Given the description of an element on the screen output the (x, y) to click on. 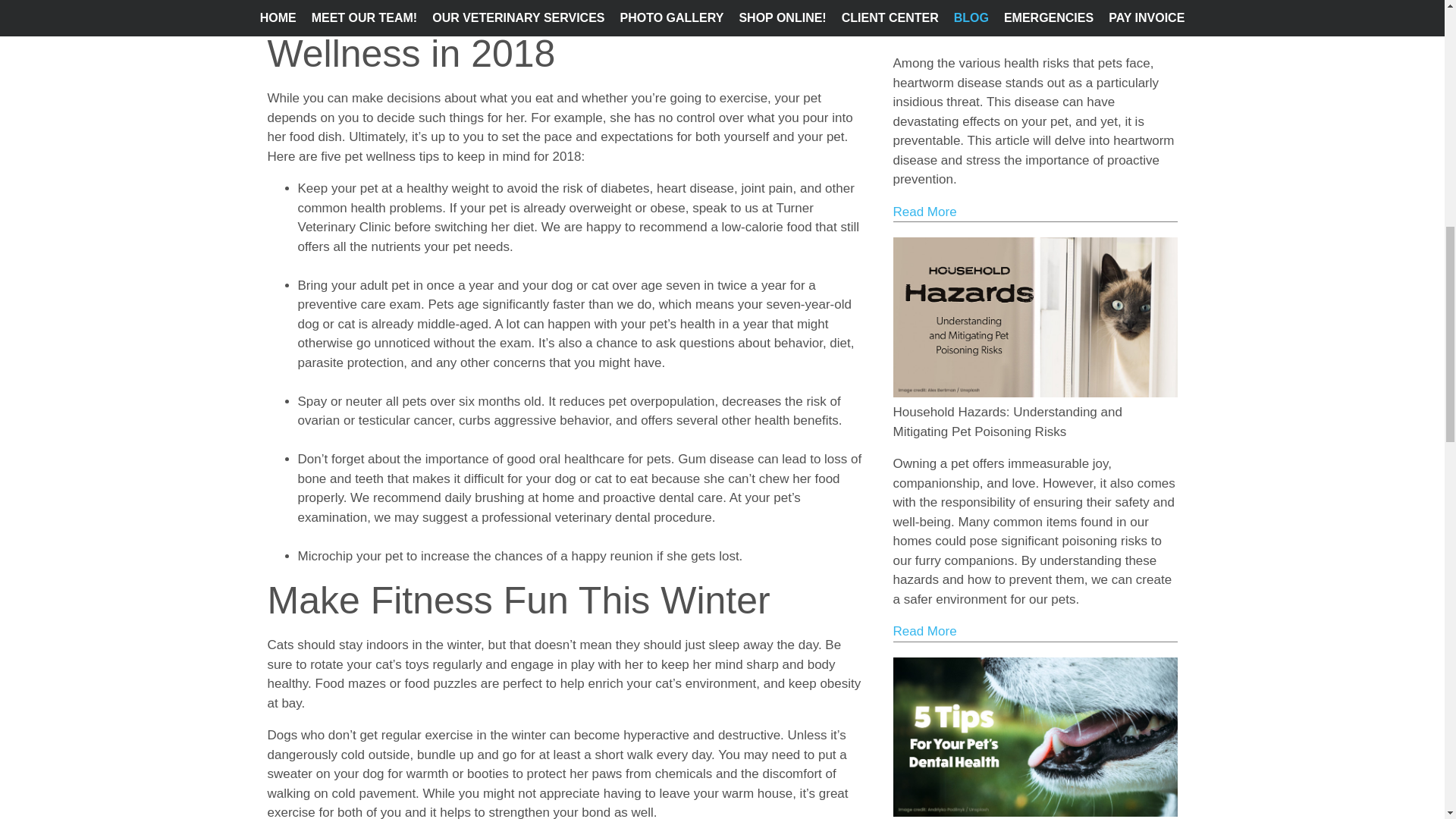
Read More (924, 631)
Read More (924, 211)
